Given the description of an element on the screen output the (x, y) to click on. 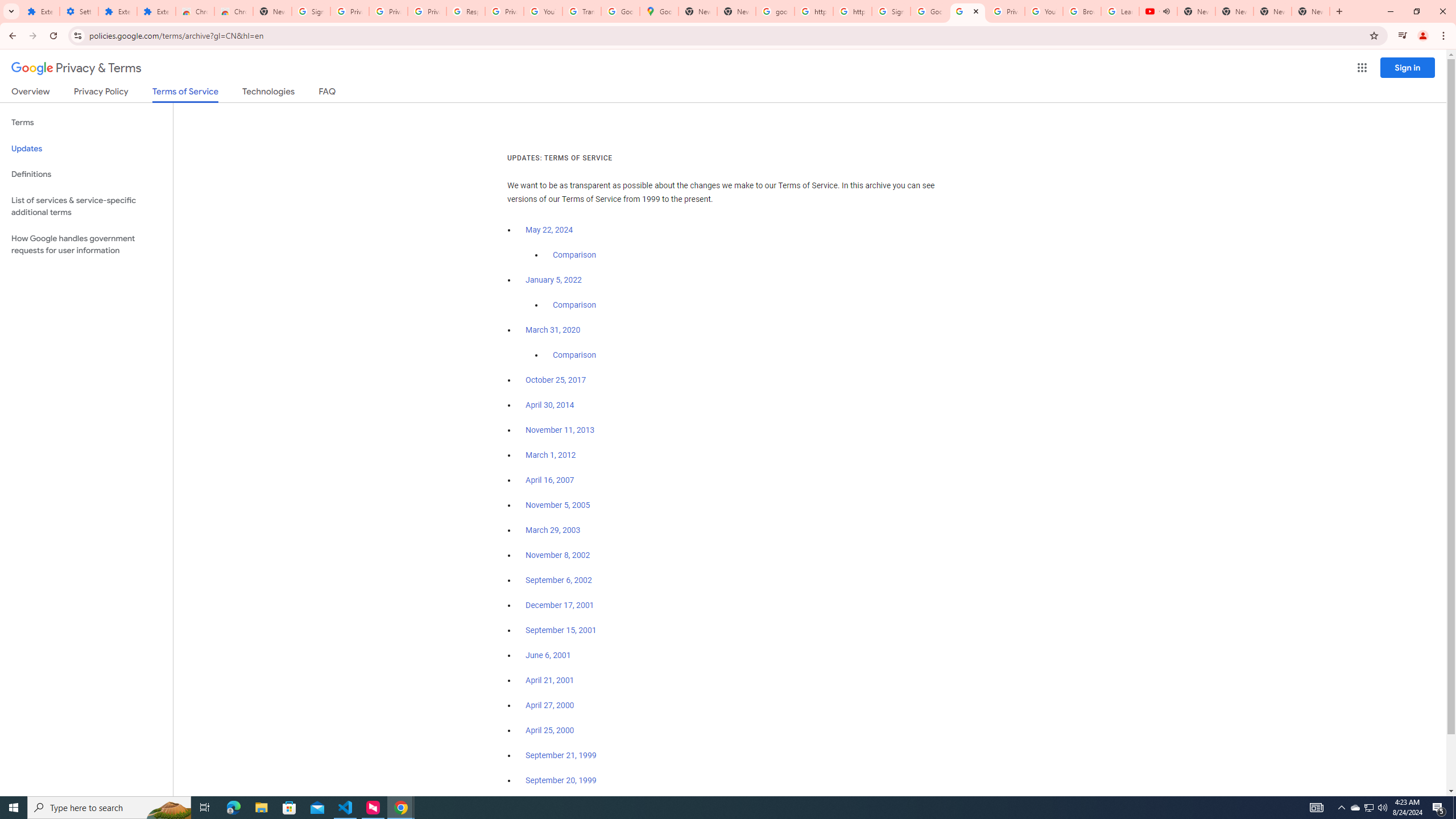
How Google handles government requests for user information (86, 244)
New Tab (1311, 11)
Technologies (268, 93)
April 16, 2007 (550, 480)
December 17, 2001 (559, 605)
Chrome Web Store (194, 11)
May 22, 2024 (549, 230)
YouTube (542, 11)
January 5, 2022 (553, 280)
